Given the description of an element on the screen output the (x, y) to click on. 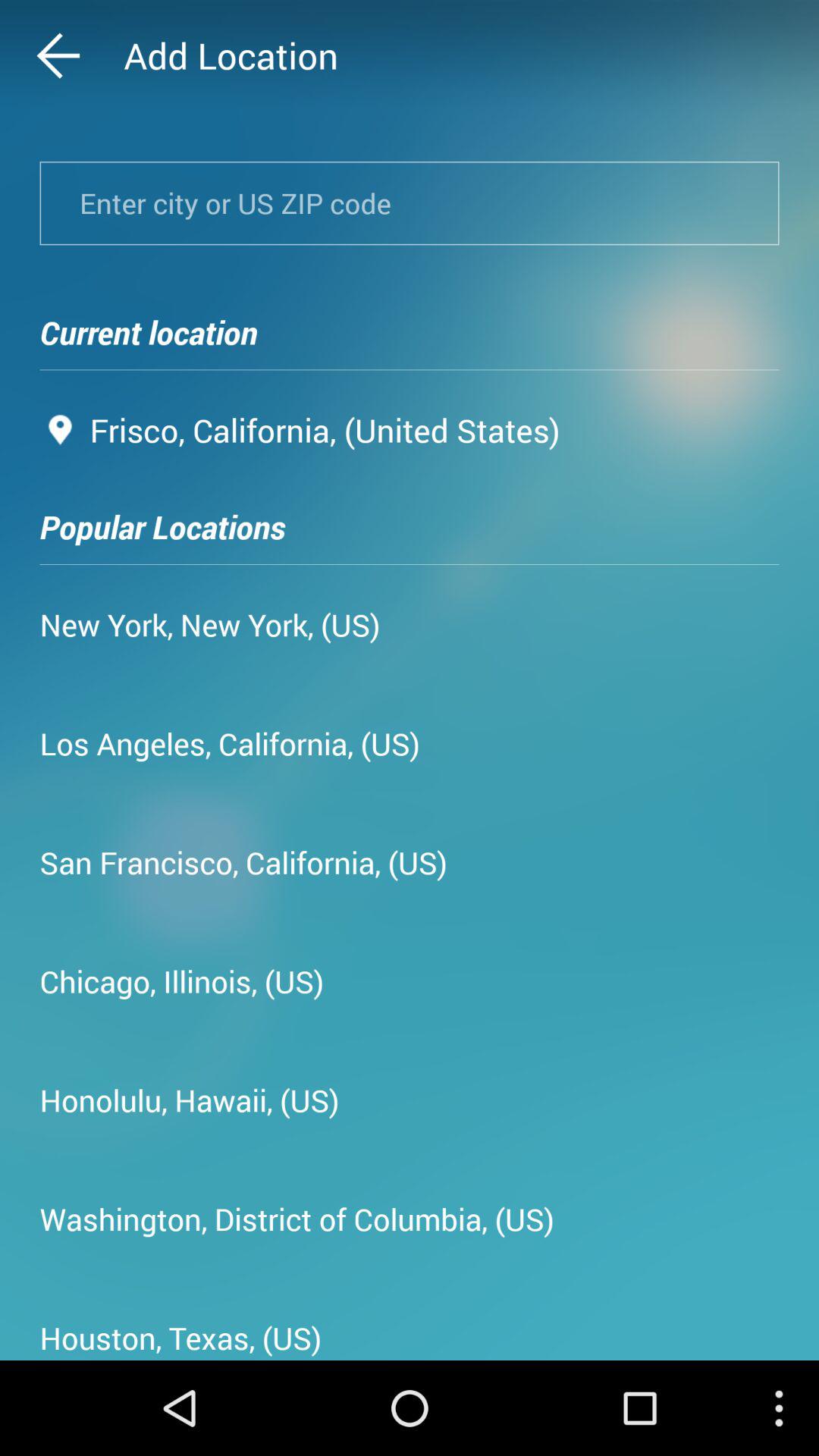
select icon below the washington district of (180, 1332)
